Given the description of an element on the screen output the (x, y) to click on. 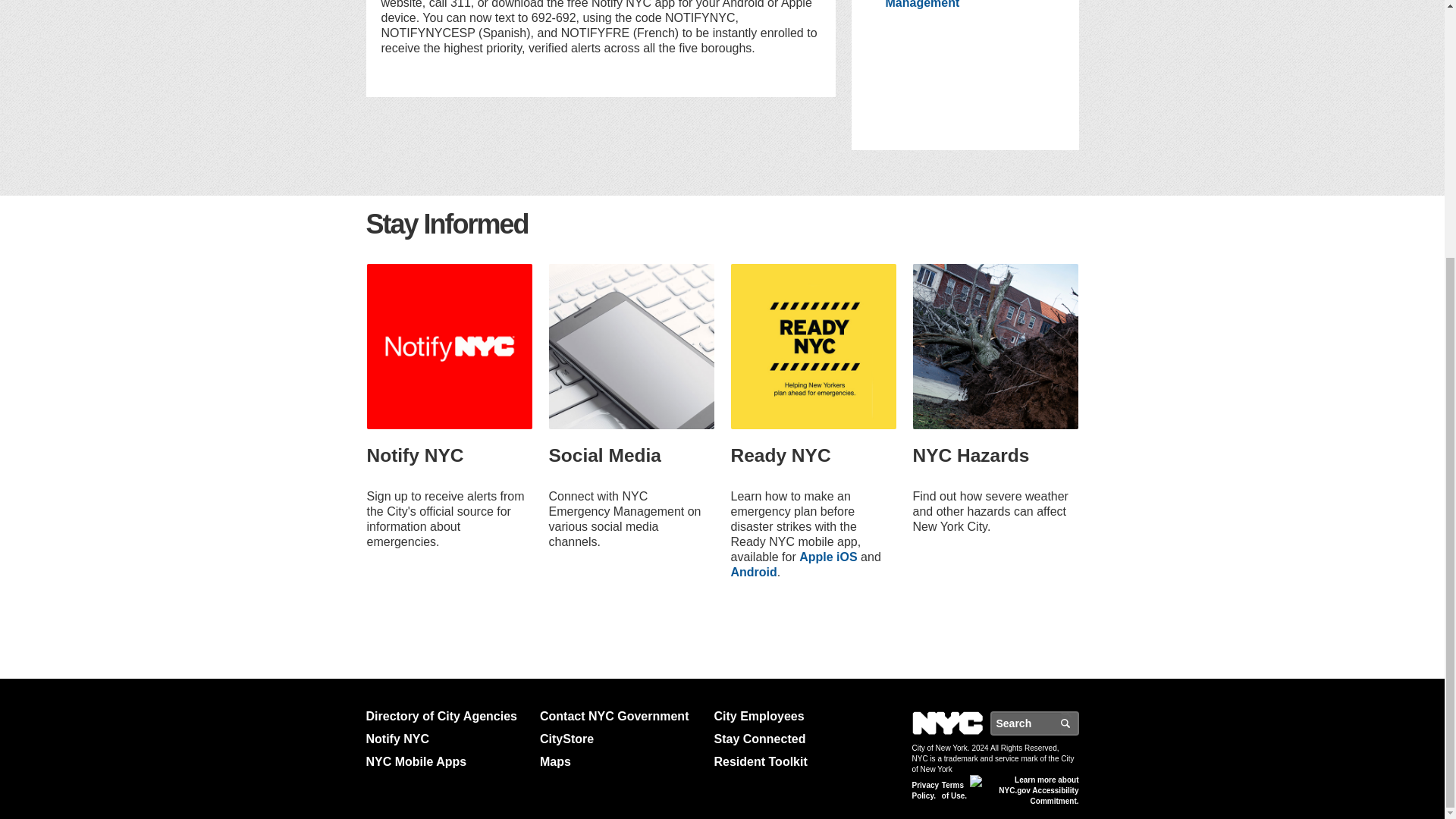
Directory of City Agencies (446, 716)
Terms of Use (955, 790)
Android (753, 571)
Privacy Ploicy  (925, 790)
Contact NYC Emergency Management (957, 4)
Apple iOS (828, 556)
